Given the description of an element on the screen output the (x, y) to click on. 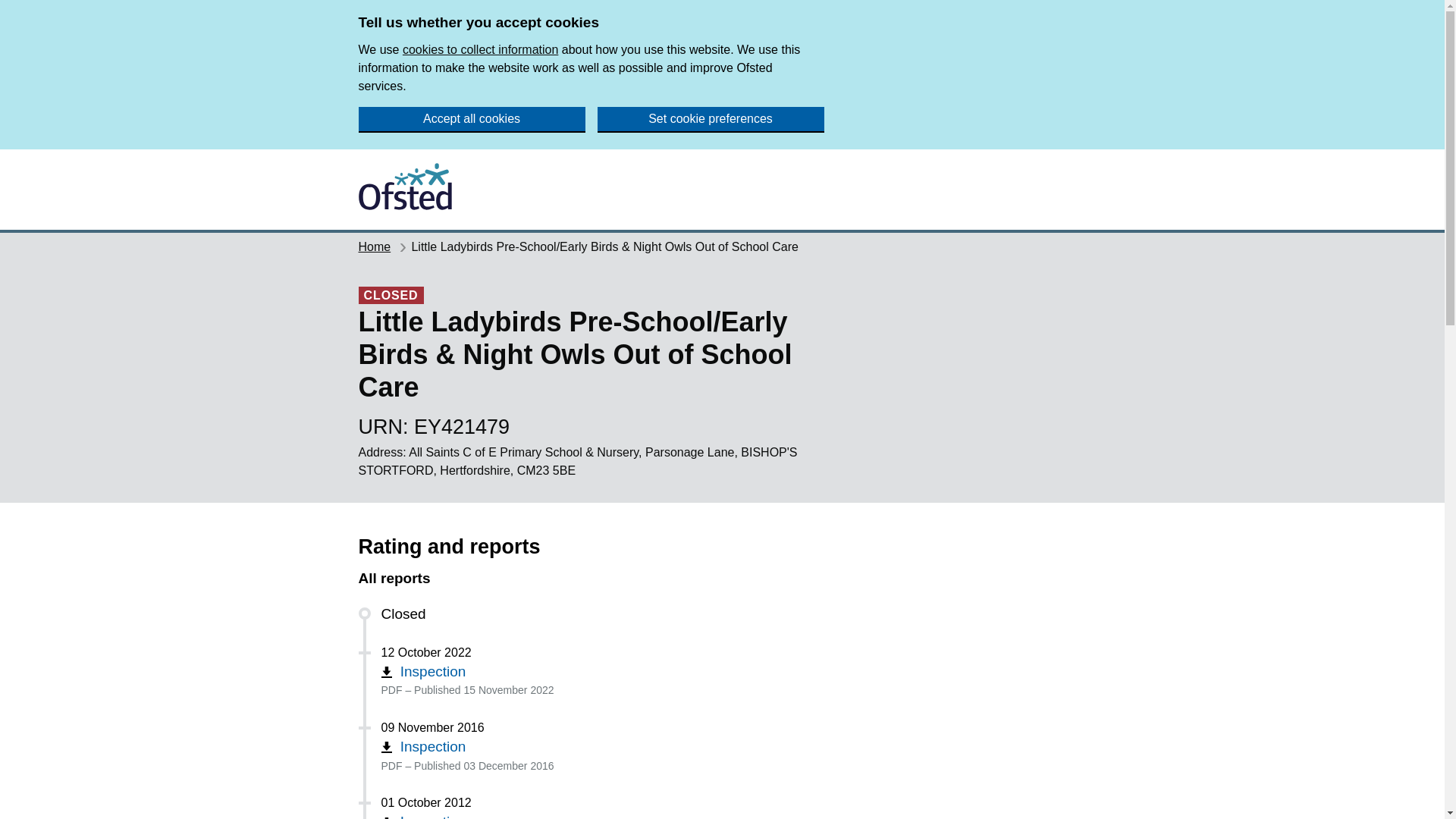
Inspection (422, 746)
Accept all cookies (471, 119)
cookies to collect information (480, 49)
Inspection (422, 671)
Inspection (422, 816)
Set cookie preferences (710, 119)
Home (374, 246)
